Given the description of an element on the screen output the (x, y) to click on. 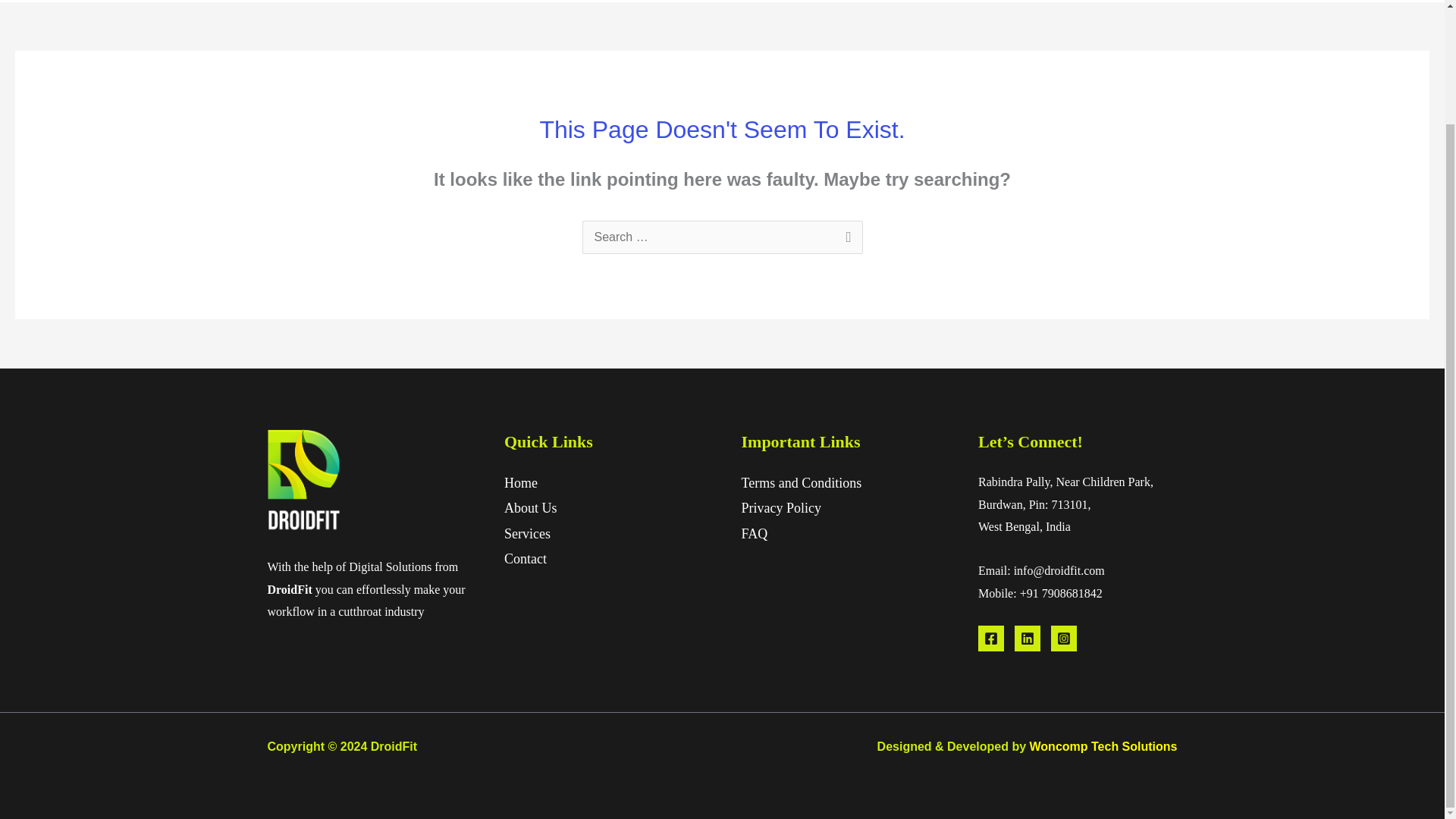
Woncomp Tech Solutions (1103, 746)
About Us (530, 507)
Services (526, 533)
Terms and Conditions (801, 482)
Privacy Policy (781, 507)
FAQ (754, 533)
Contact (525, 558)
Home (520, 482)
